Given the description of an element on the screen output the (x, y) to click on. 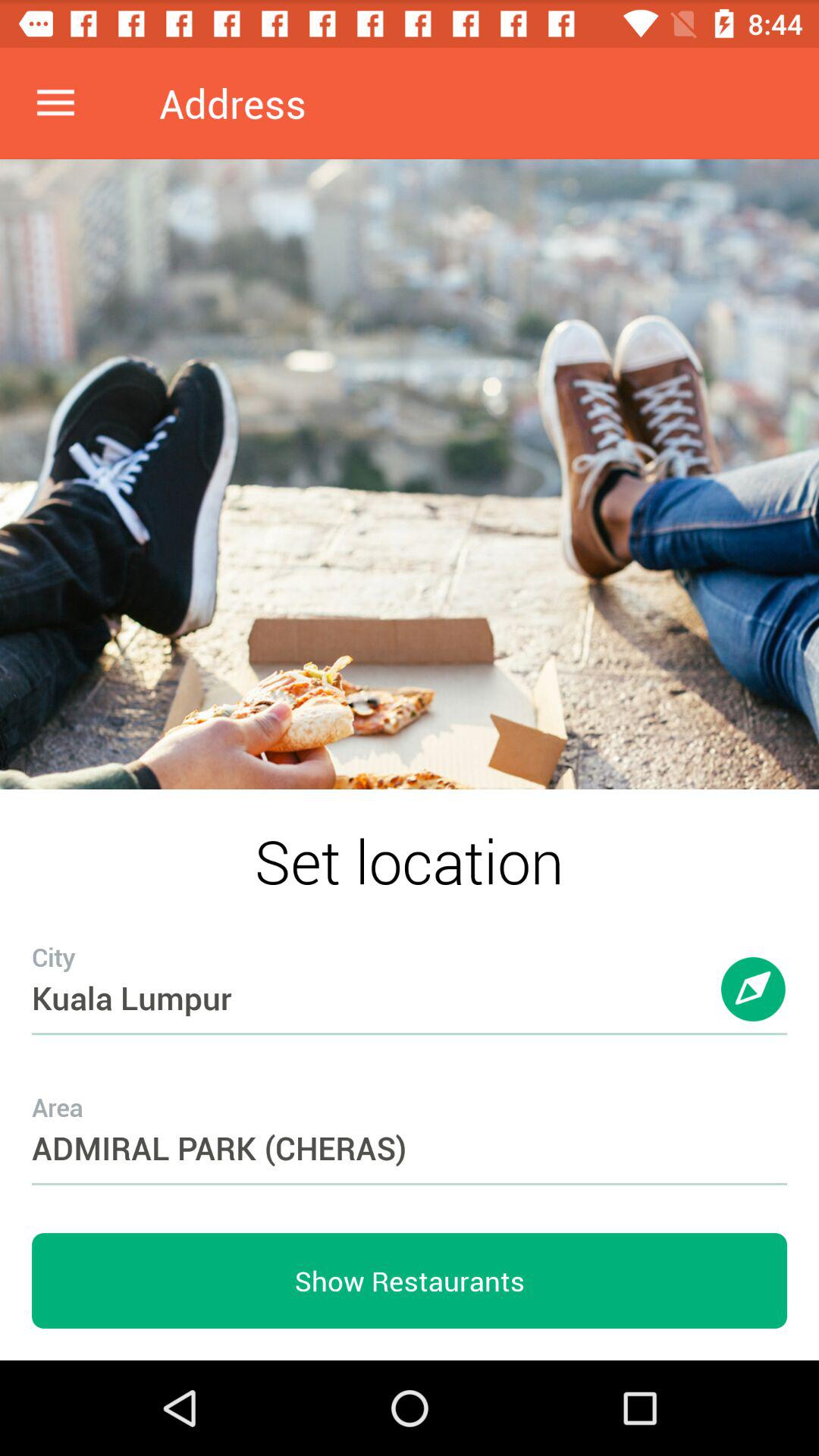
flip to the kuala lumpur item (409, 967)
